Given the description of an element on the screen output the (x, y) to click on. 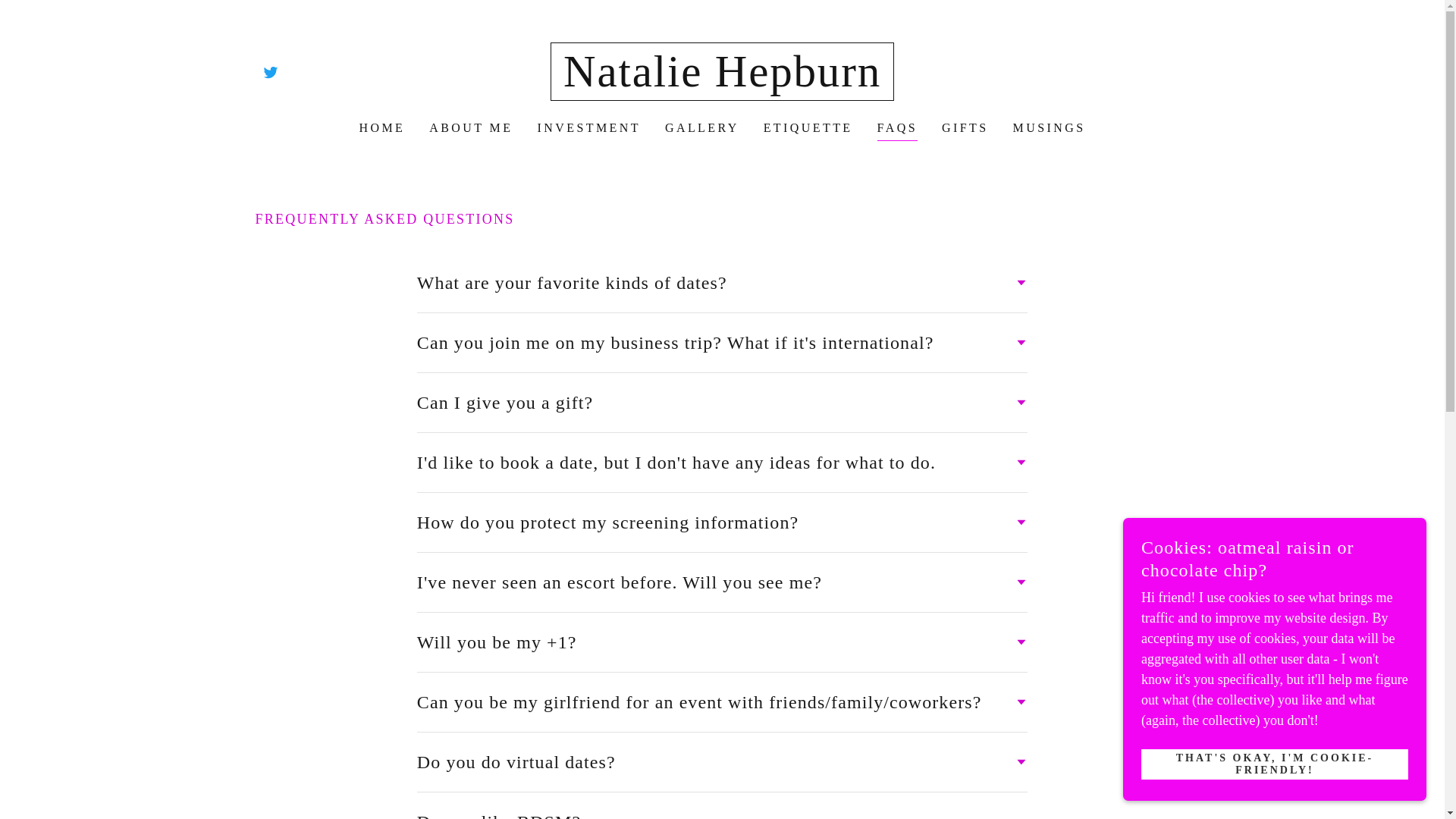
Natalie Hepburn (721, 81)
How do you protect my screening information? (721, 522)
GALLERY (702, 127)
MUSINGS (1049, 127)
INVESTMENT (588, 127)
ETIQUETTE (807, 127)
I've never seen an escort before. Will you see me? (721, 582)
GIFTS (964, 127)
What are your favorite kinds of dates? (721, 282)
HOME (381, 127)
FAQS (897, 129)
Can I give you a gift? (721, 402)
Natalie Hepburn (721, 81)
